Given the description of an element on the screen output the (x, y) to click on. 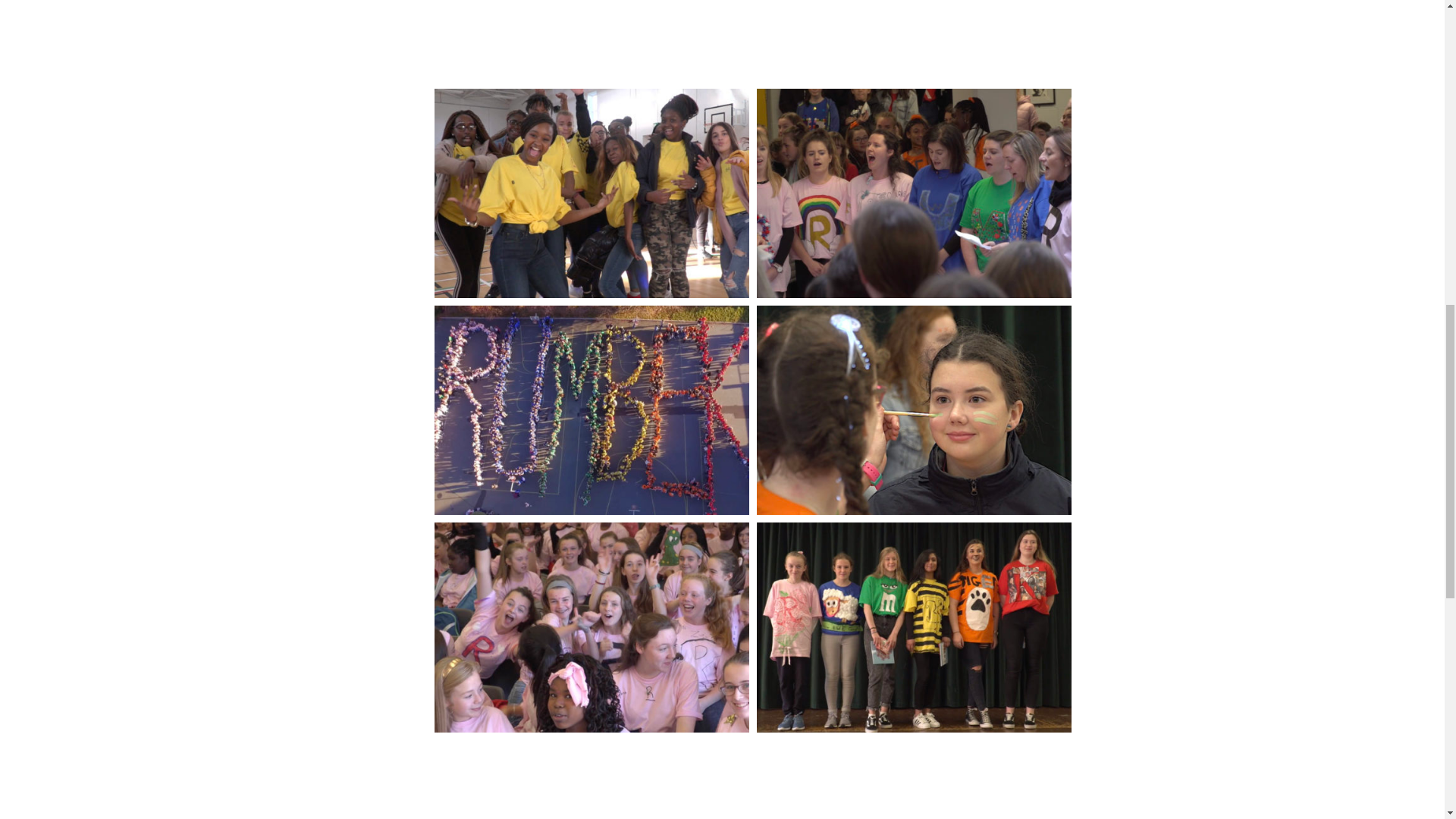
Balbriggan fundraising 2018-2 (590, 192)
Loreto Balbriggan Rumbek Video (751, 25)
Balbriggan fundraising 2018-6 (914, 410)
Balbriggan fundraising 2018-4 (914, 192)
Balbriggan fundraising 2018-5 (590, 410)
Balbriggan fundraising 2018 (914, 627)
Balbriggan fundraising 2018-7 (590, 627)
